Given the description of an element on the screen output the (x, y) to click on. 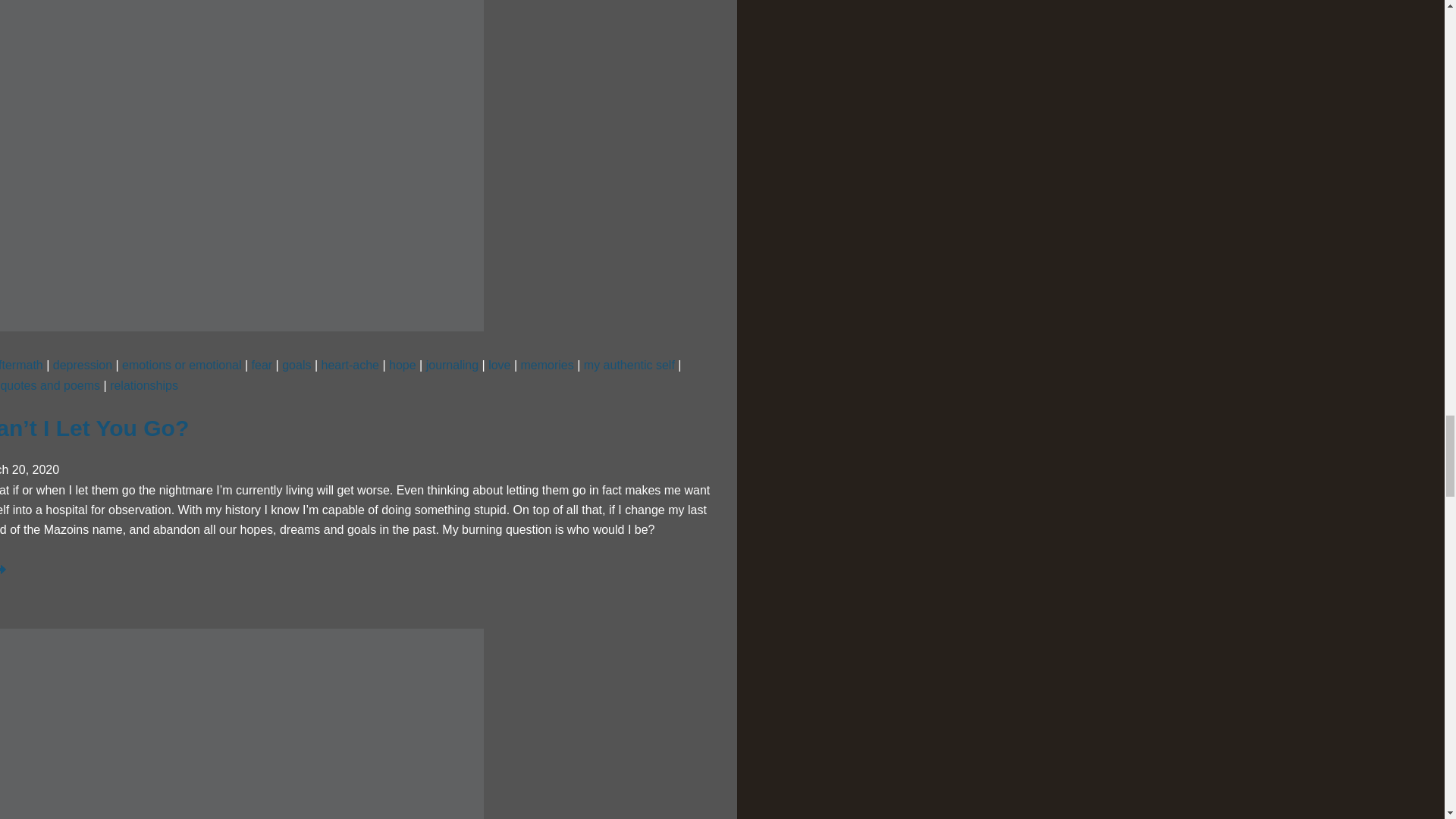
fear (262, 364)
heart-ache (350, 364)
hope (402, 364)
coronavirus aftermath (21, 364)
depression (82, 364)
emotions or emotional (181, 364)
goals (296, 364)
